Given the description of an element on the screen output the (x, y) to click on. 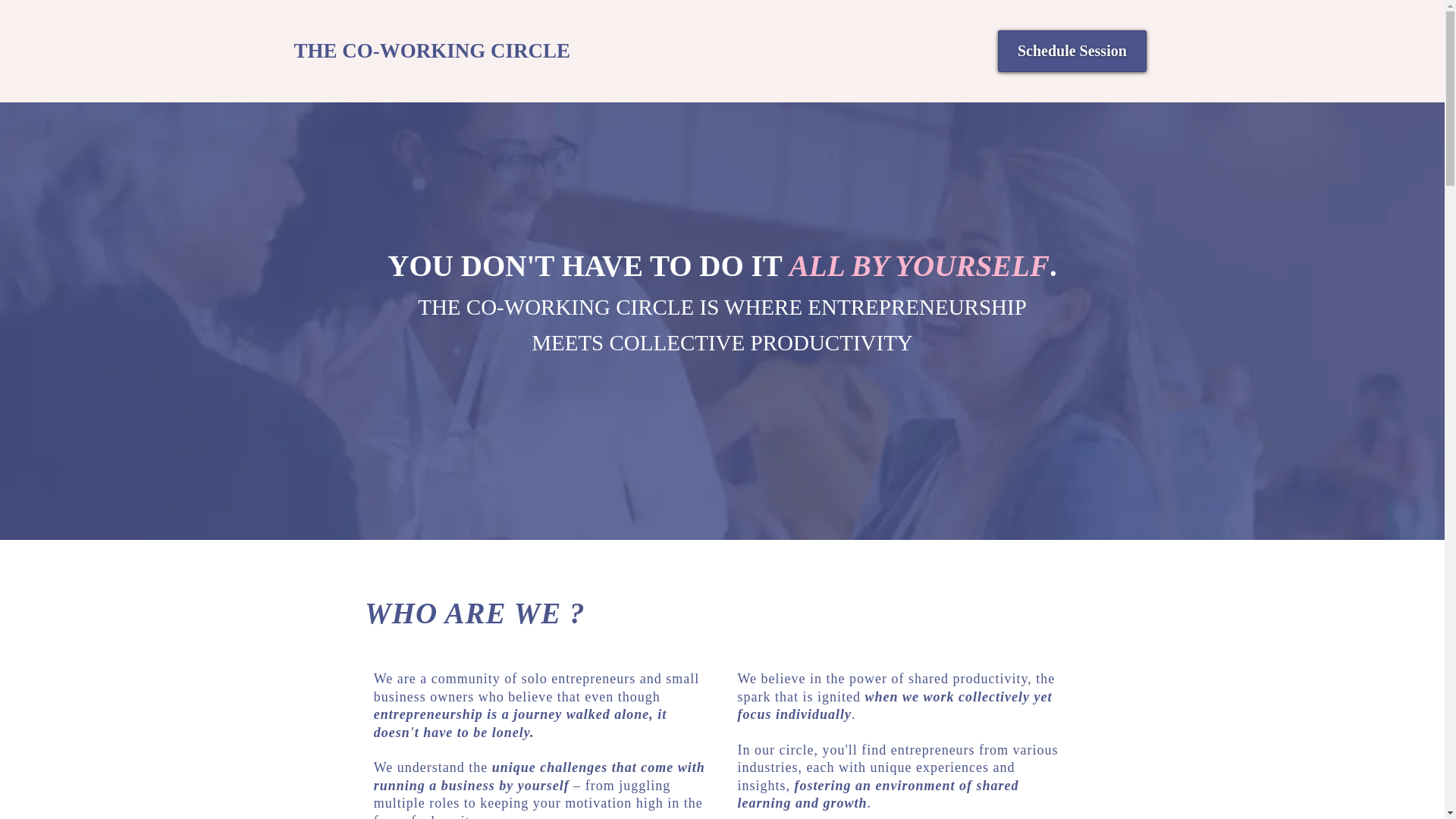
Schedule Session (1072, 51)
